Given the description of an element on the screen output the (x, y) to click on. 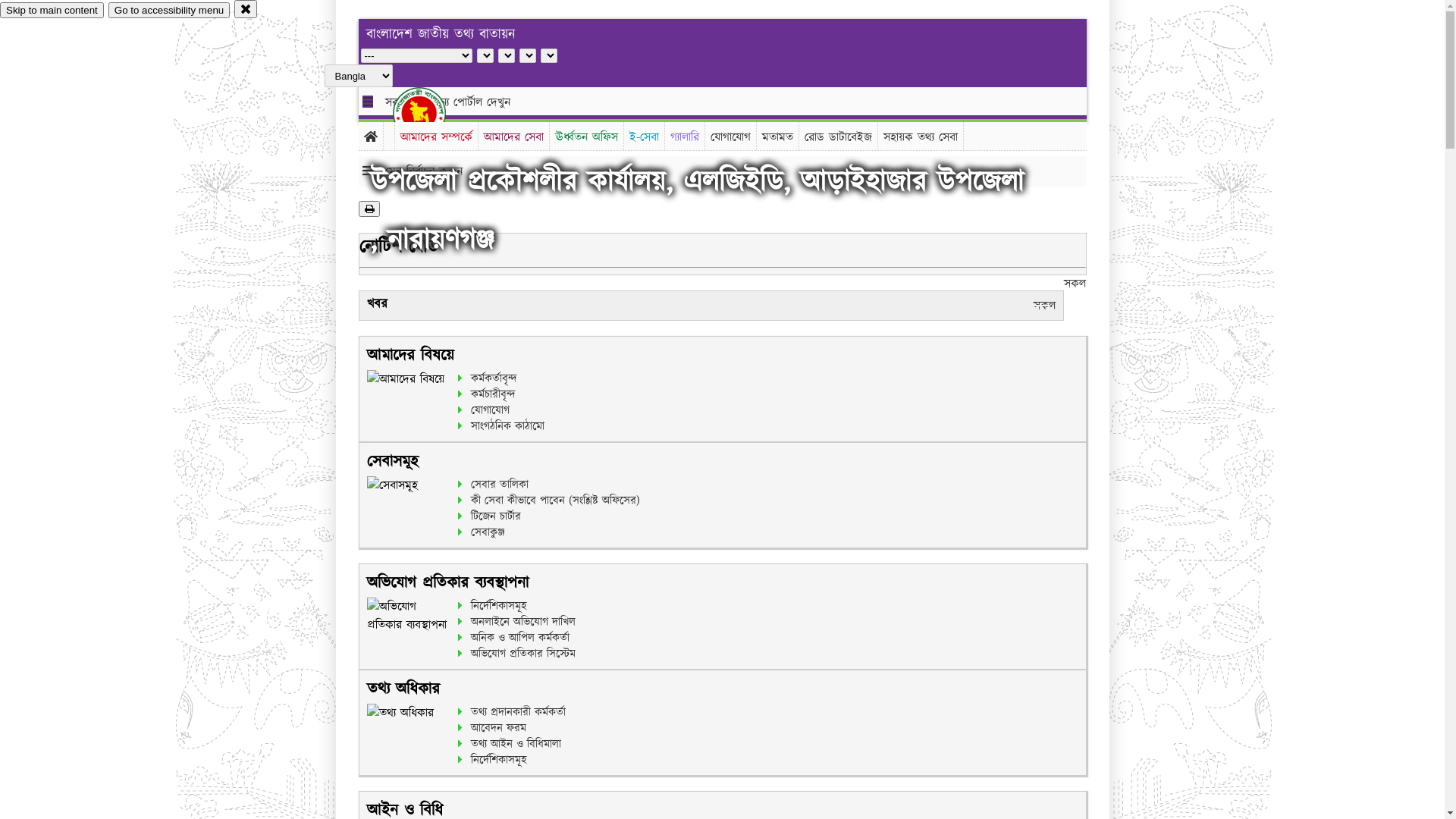
close Element type: hover (245, 9)
Skip to main content Element type: text (51, 10)
Go to accessibility menu Element type: text (168, 10)

                
             Element type: hover (431, 112)
